Given the description of an element on the screen output the (x, y) to click on. 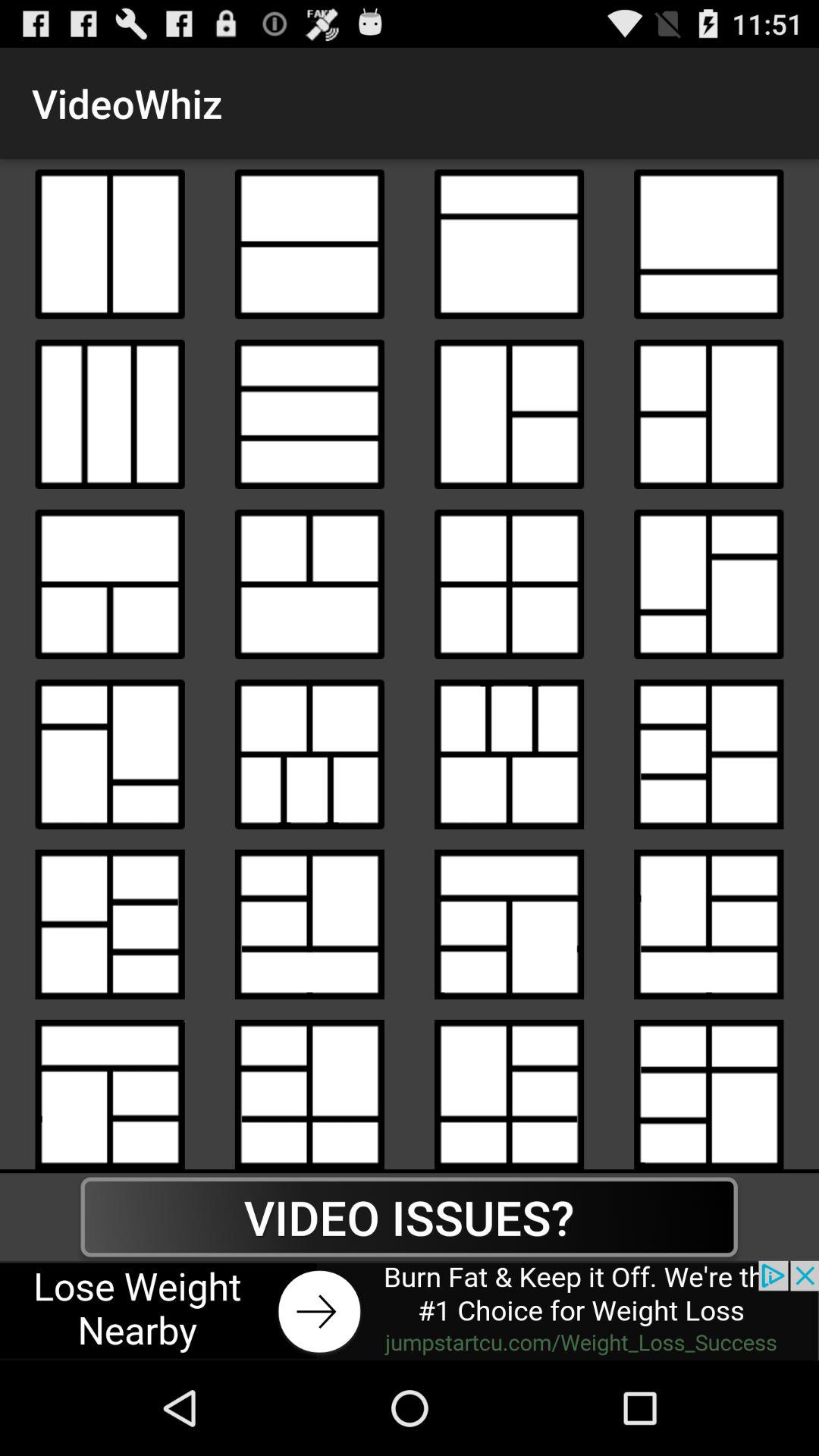
photo editor (309, 414)
